Given the description of an element on the screen output the (x, y) to click on. 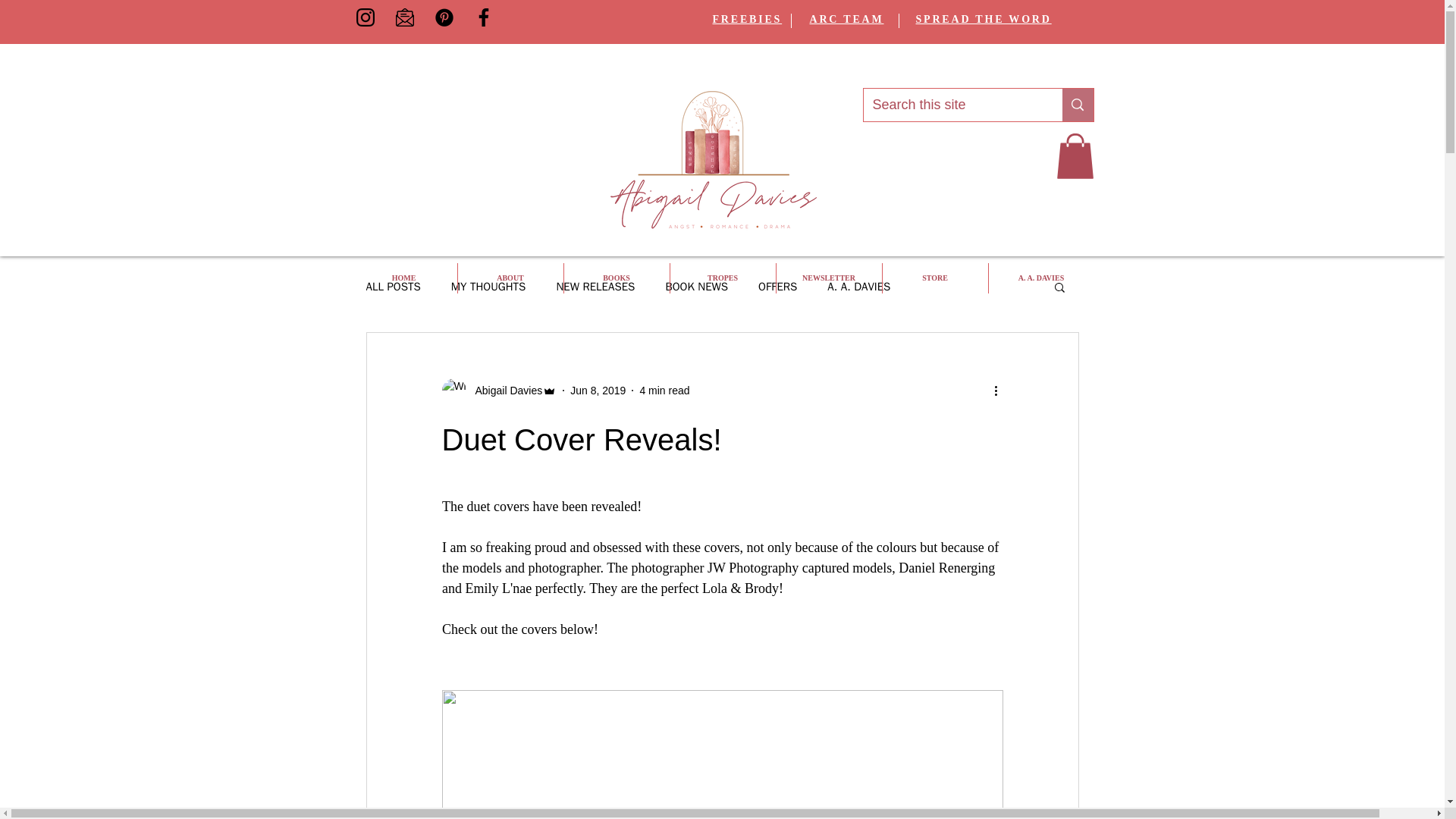
ALL POSTS (392, 286)
Abigail Davies (498, 390)
SPREAD THE WORD (983, 19)
BOOKS (616, 277)
MY THOUGHTS (488, 286)
NEW RELEASES (595, 286)
FREEBIES (748, 19)
BOOK NEWS (696, 286)
Abigail Davies (503, 390)
HOME (403, 277)
